Given the description of an element on the screen output the (x, y) to click on. 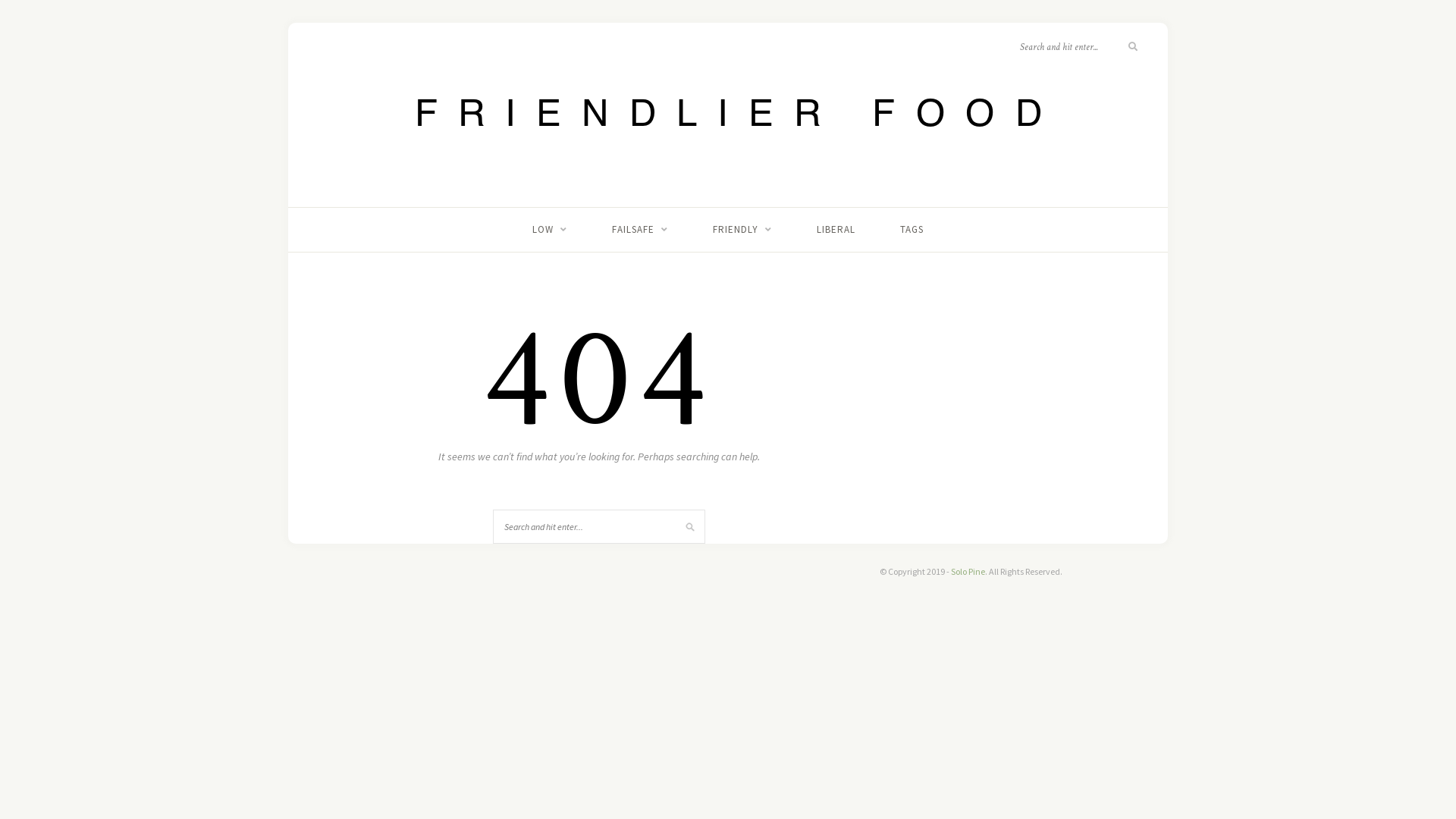
TAGS Element type: text (911, 229)
LOW Element type: text (549, 229)
FRIENDLY Element type: text (741, 229)
LIBERAL Element type: text (835, 229)
Solo Pine Element type: text (967, 571)
FAILSAFE Element type: text (639, 229)
